Given the description of an element on the screen output the (x, y) to click on. 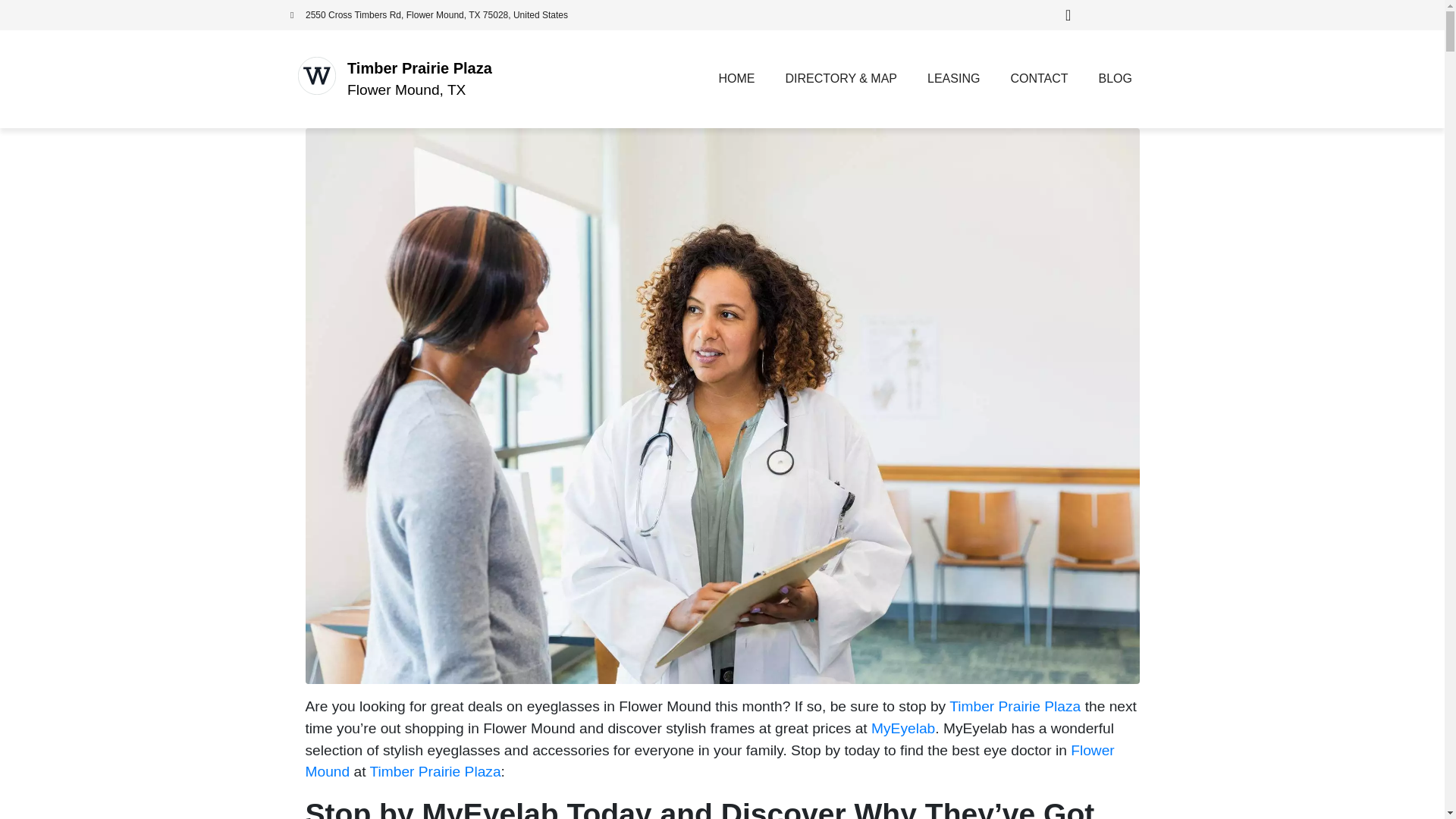
Timber Prairie Plaza (419, 67)
CONTACT (1038, 78)
Flower Mound (708, 761)
Timber Prairie Plaza (1014, 706)
Timber Prairie Plaza (434, 771)
HOME (736, 78)
LEASING (953, 78)
BLOG (1115, 78)
MyEyelab (902, 728)
